Given the description of an element on the screen output the (x, y) to click on. 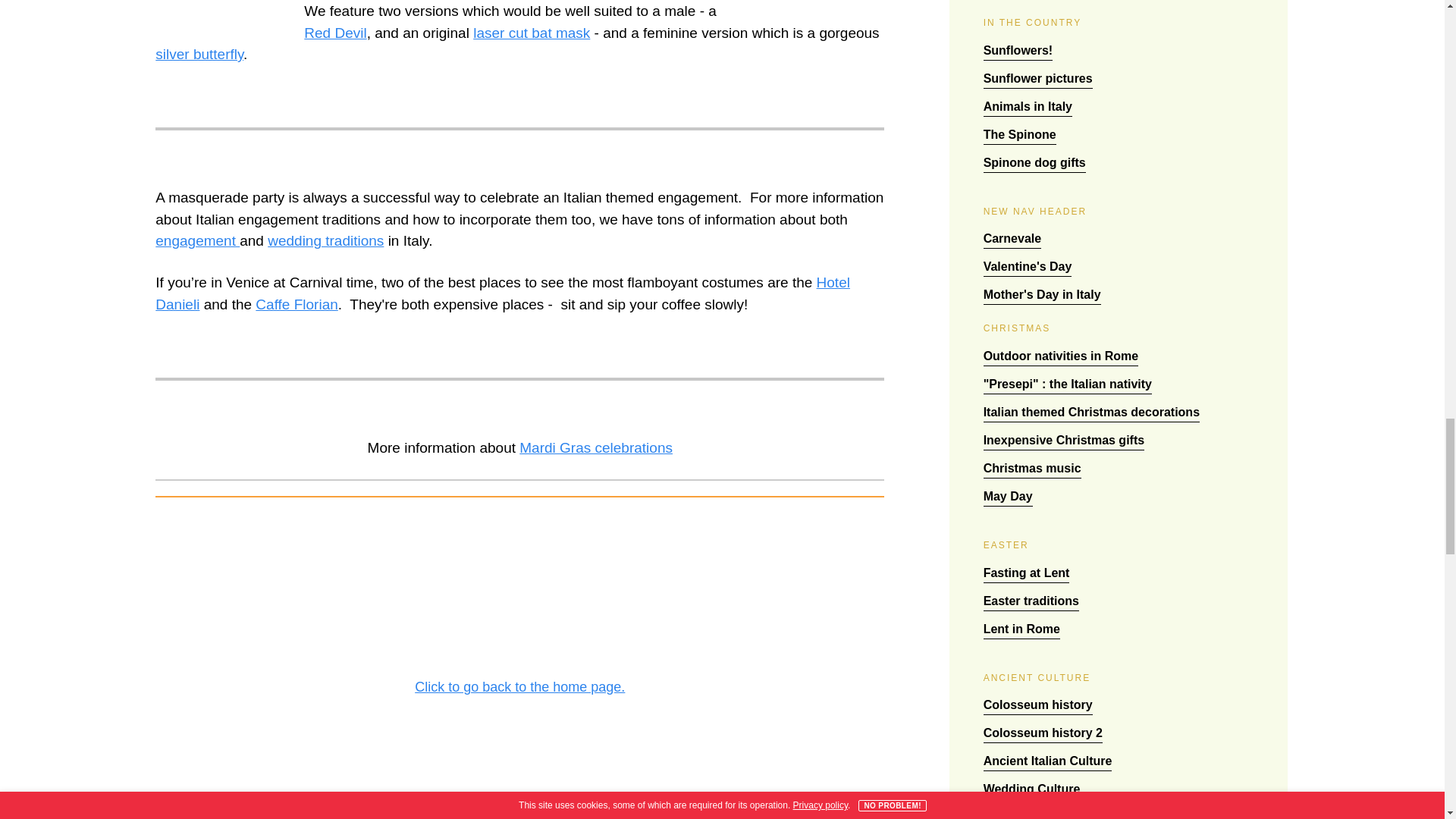
Mardi Gras face masks the bat (223, 12)
Click to go back to the home page. (520, 591)
